Given the description of an element on the screen output the (x, y) to click on. 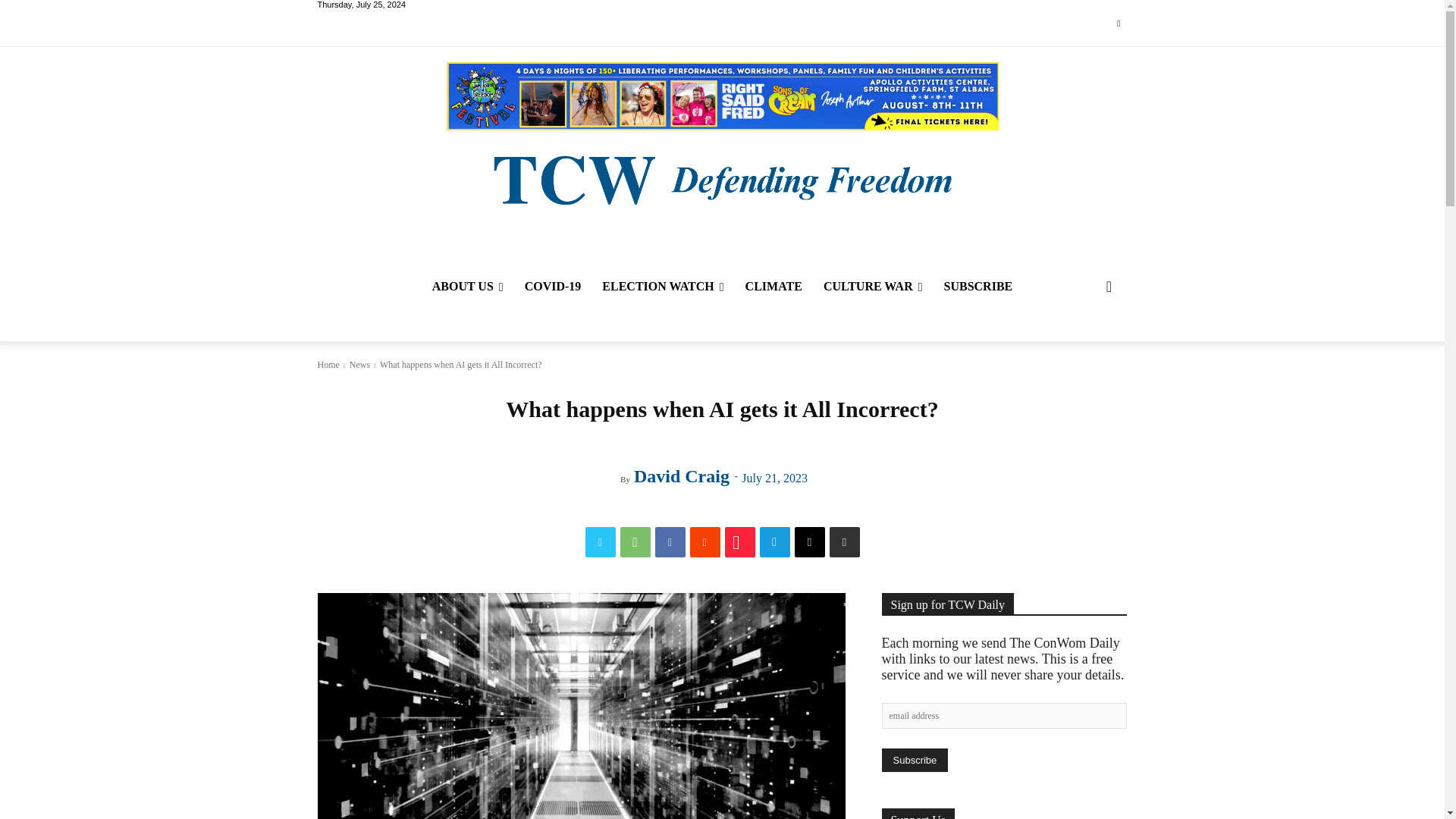
WhatsApp (635, 542)
COVID-19 (552, 286)
ELECTION WATCH (662, 286)
The Conservative Woman (721, 178)
Subscribe (913, 760)
View all posts in News (359, 364)
Facebook (670, 542)
Twitter (1117, 23)
ABOUT US (467, 286)
CLIMATE (773, 286)
Twitter (600, 542)
